Given the description of an element on the screen output the (x, y) to click on. 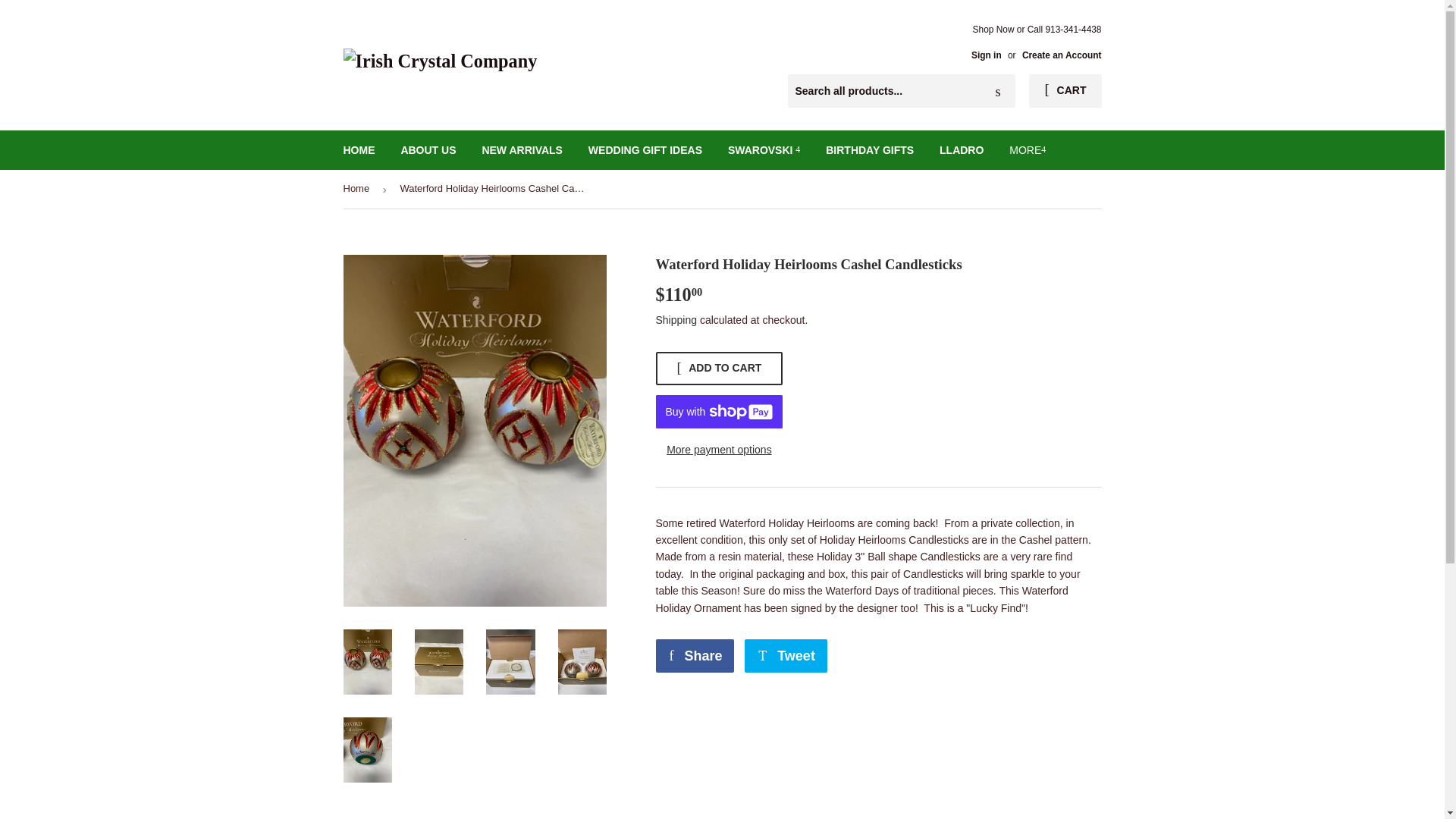
CART (1064, 90)
HOME (359, 149)
Tweet on Twitter (785, 655)
Sign in (986, 54)
Create an Account (1062, 54)
Search (997, 91)
Share on Facebook (694, 655)
